Given the description of an element on the screen output the (x, y) to click on. 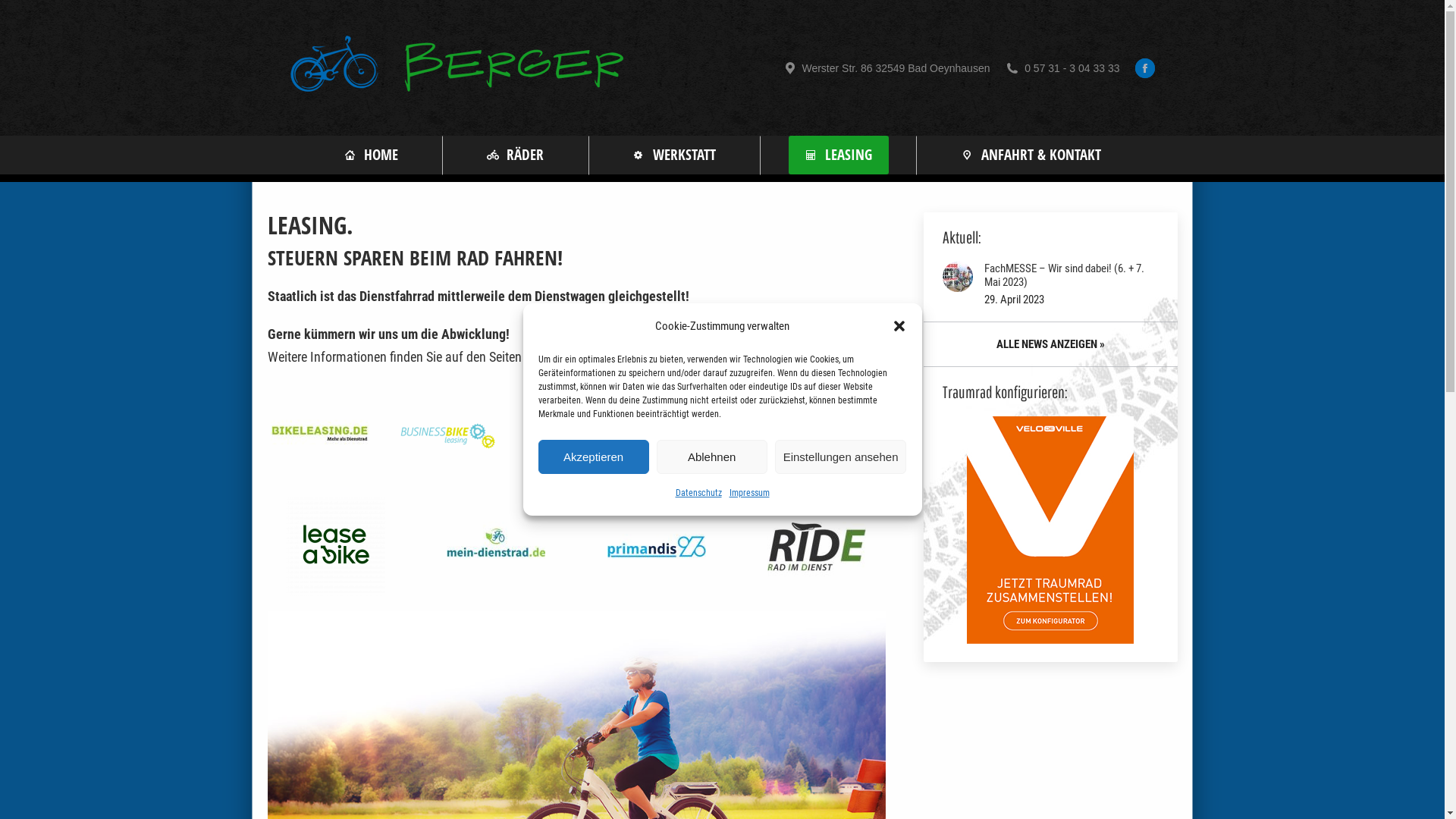
HOME Element type: text (370, 154)
0 57 31 - 3 04 33 33 Element type: text (1061, 67)
jobrad Element type: hover (832, 432)
leaseabike_logo_rgb Element type: hover (335, 546)
eurorad Element type: hover (704, 432)
deutsche-dienstrad Element type: hover (576, 432)
Ablehnen Element type: text (711, 456)
WERKSTATT Element type: text (674, 154)
info@2radberger.de Element type: text (365, 785)
Facebook page opens in new window Element type: text (1144, 67)
bikeleasing Element type: hover (319, 432)
primandis Element type: hover (656, 546)
Werster Str. 86 32549 Bad Oeynhausen Element type: text (886, 67)
LEASING Element type: text (838, 154)
Impressum Element type: text (749, 492)
mein-dienstrad Element type: hover (495, 546)
ANFAHRT & KONTAKT Element type: text (1030, 154)
Logo_mobile Element type: hover (447, 432)
rad-im-dienst Element type: hover (816, 546)
Einstellungen ansehen Element type: text (840, 456)
Akzeptieren Element type: text (593, 456)
Datenschutz Element type: text (697, 492)
